Given the description of an element on the screen output the (x, y) to click on. 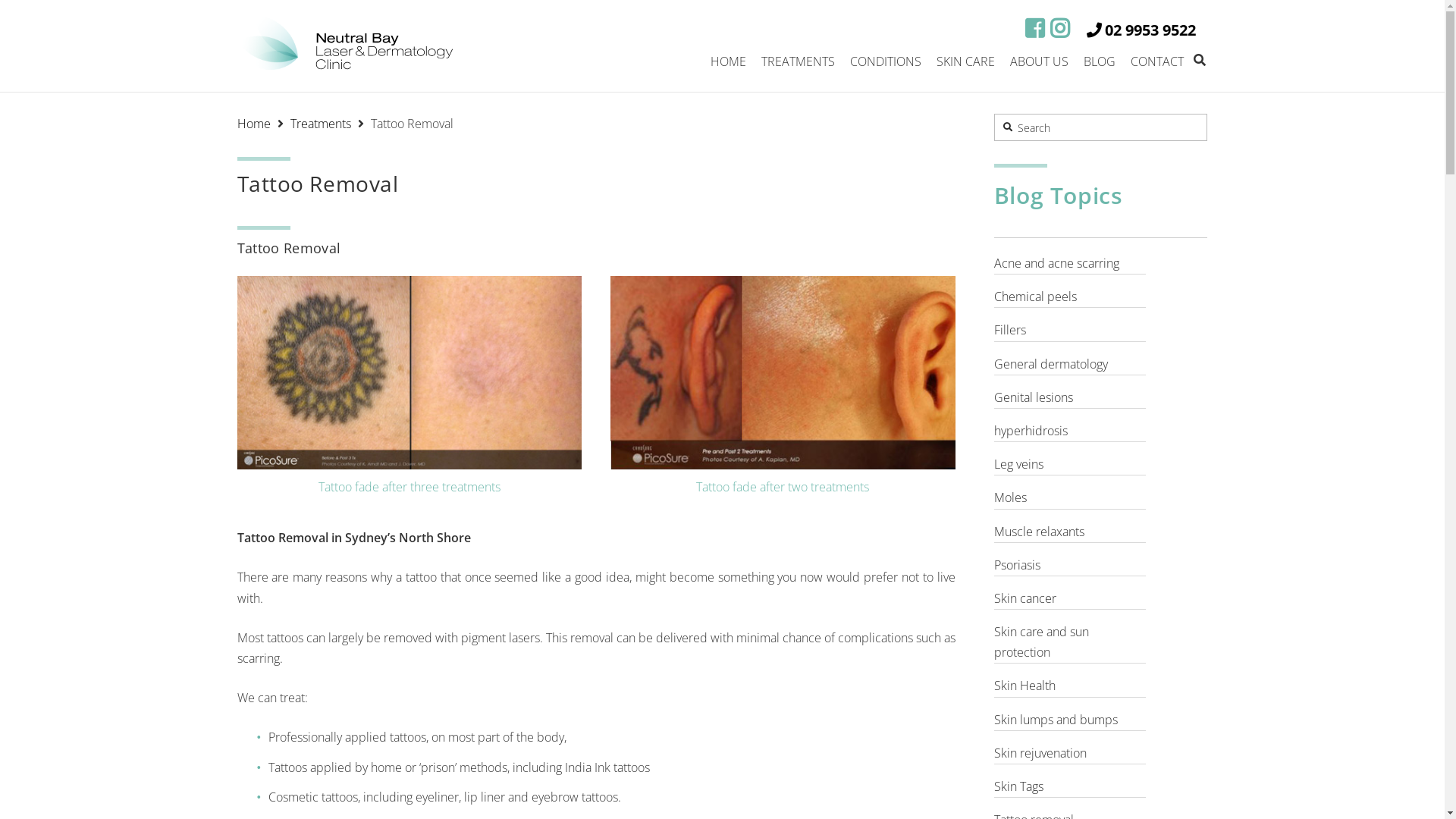
Moles Element type: text (1069, 497)
Muscle relaxants Element type: text (1069, 531)
ABOUT US Element type: text (1039, 61)
Skin lumps and bumps Element type: text (1069, 720)
CONDITIONS Element type: text (884, 61)
Fillers Element type: text (1069, 330)
General dermatology Element type: text (1069, 364)
Treatments Element type: text (319, 123)
Skin Health Element type: text (1069, 685)
BLOG Element type: text (1098, 61)
hyperhidrosis Element type: text (1069, 431)
Chemical peels Element type: text (1069, 296)
Skin care and sun protection Element type: text (1069, 642)
Skin rejuvenation Element type: text (1069, 753)
02 9953 9522 Element type: text (1140, 29)
Leg veins Element type: text (1069, 464)
HOME Element type: text (727, 61)
Genital lesions Element type: text (1069, 397)
SKIN CARE Element type: text (964, 61)
Acne and acne scarring Element type: text (1069, 263)
TREATMENTS Element type: text (797, 61)
Psoriasis Element type: text (1069, 565)
Skin Tags Element type: text (1069, 786)
CONTACT Element type: text (1156, 61)
Home Element type: text (252, 123)
Skin cancer Element type: text (1069, 598)
